Given the description of an element on the screen output the (x, y) to click on. 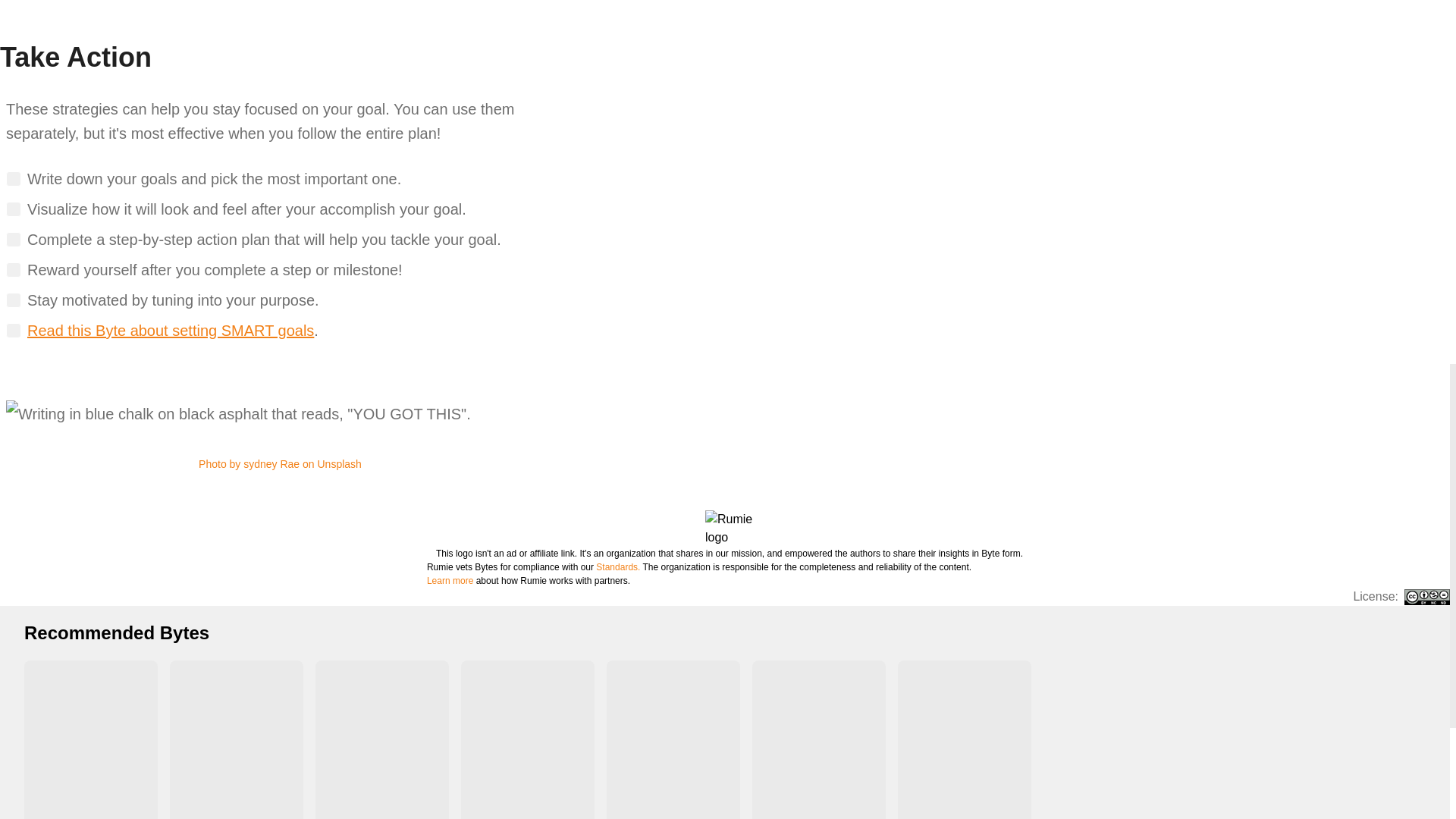
on (13, 209)
on (13, 269)
on (13, 299)
on (13, 330)
on (13, 178)
on (13, 239)
